Given the description of an element on the screen output the (x, y) to click on. 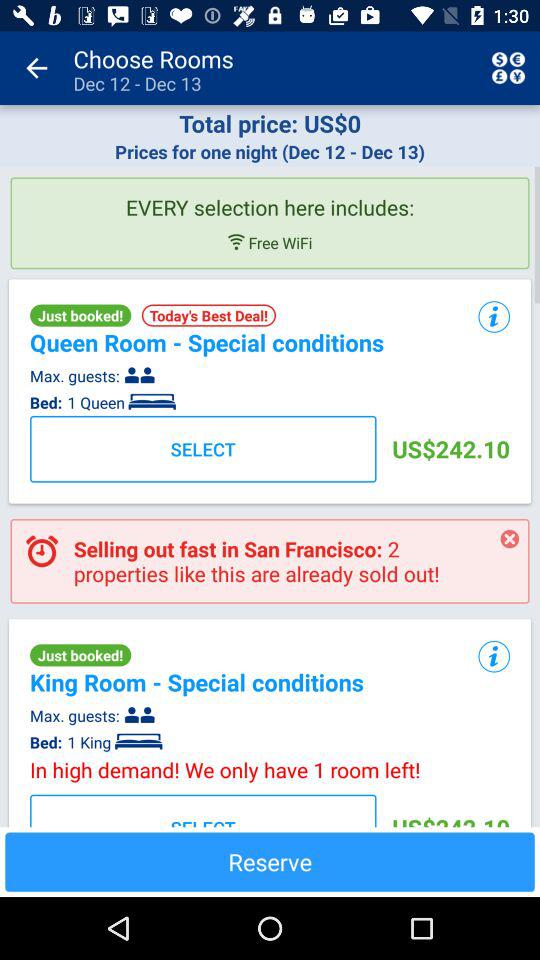
turn off the icon next to the king room special item (493, 657)
